Given the description of an element on the screen output the (x, y) to click on. 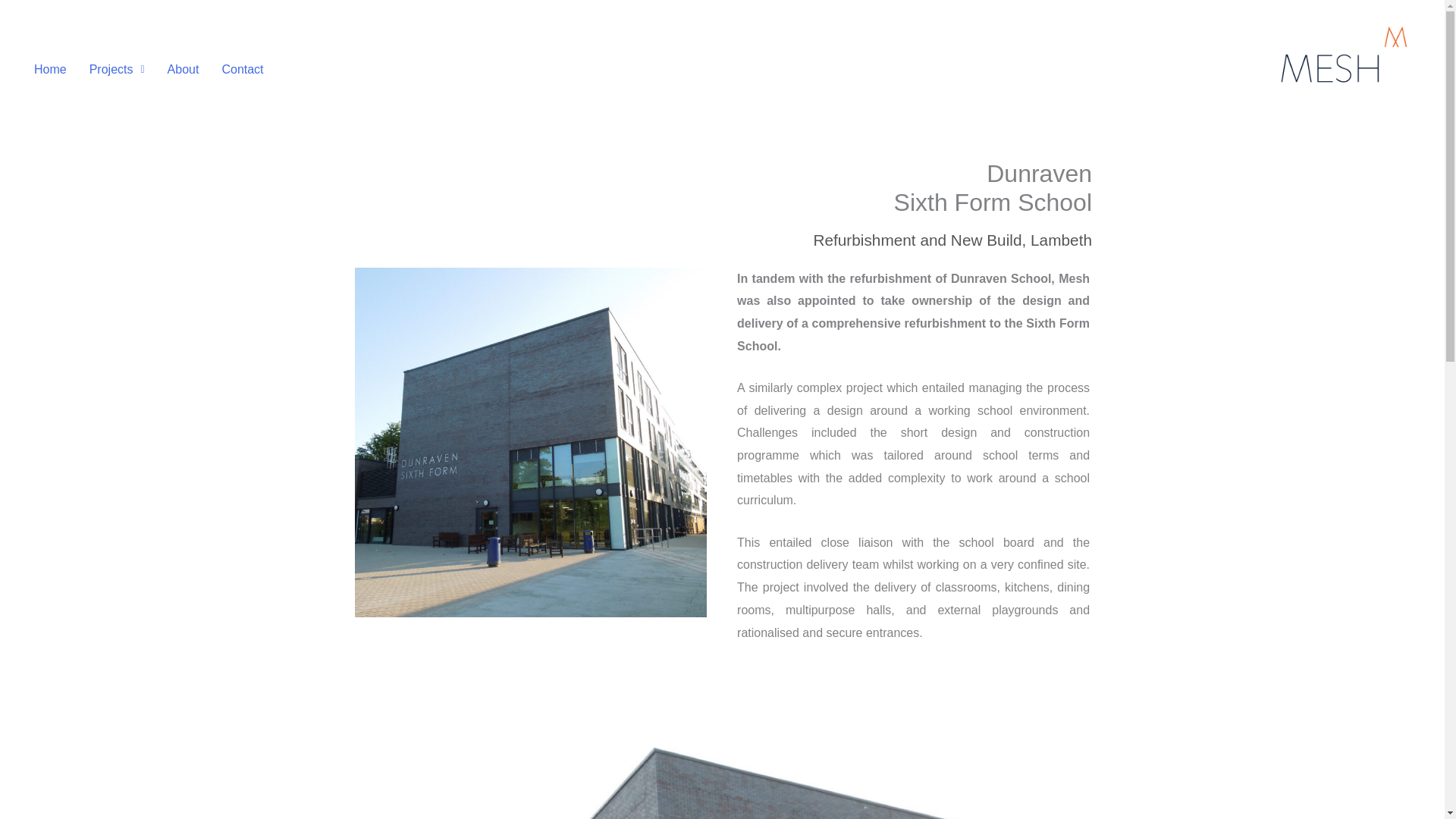
Home (50, 69)
About (183, 69)
Projects (116, 69)
Contact (242, 69)
Page 3 (912, 454)
